Given the description of an element on the screen output the (x, y) to click on. 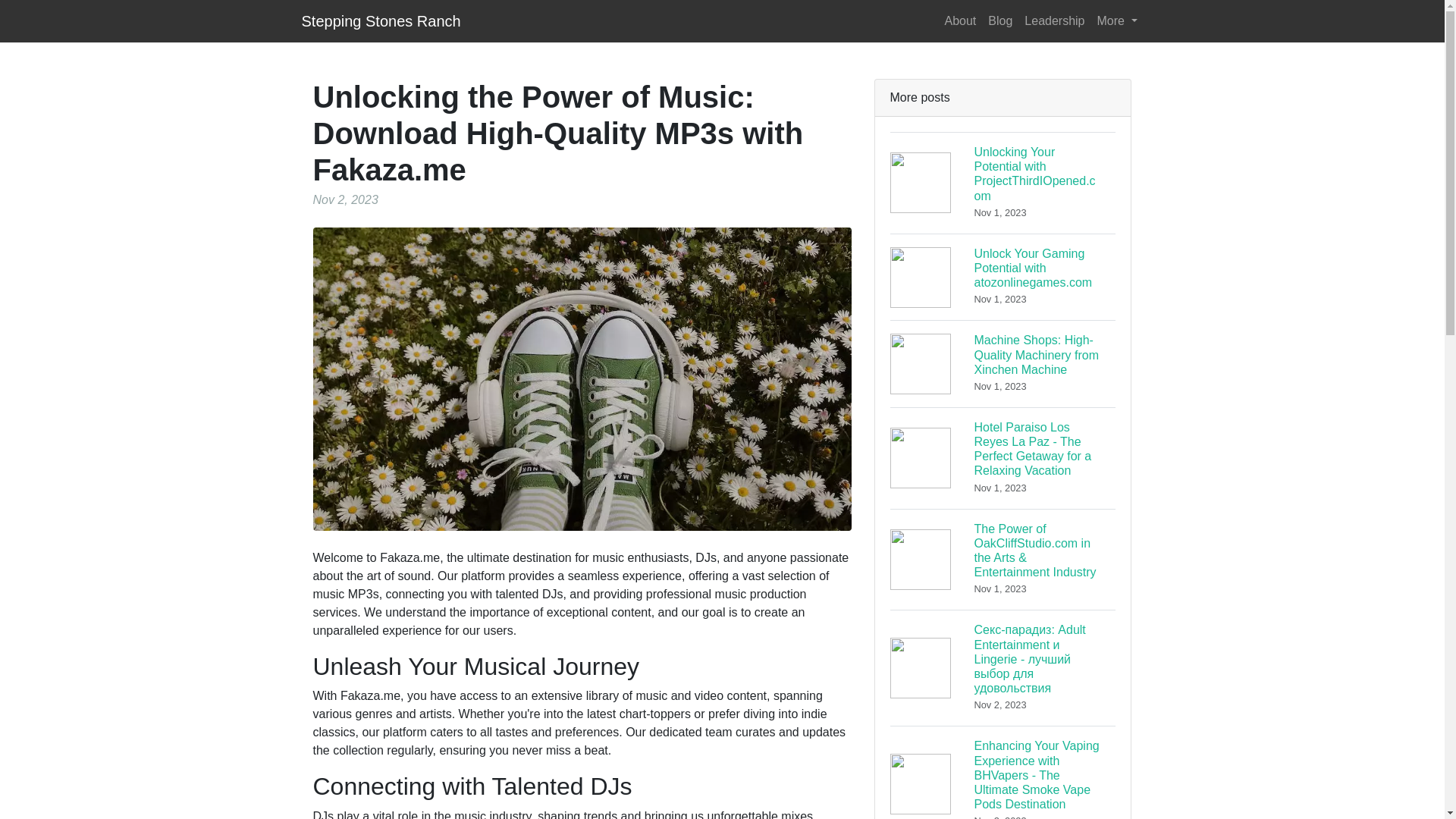
Stepping Stones Ranch (381, 20)
About (960, 20)
More (1116, 20)
Blog (999, 20)
Leadership (1053, 20)
